Given the description of an element on the screen output the (x, y) to click on. 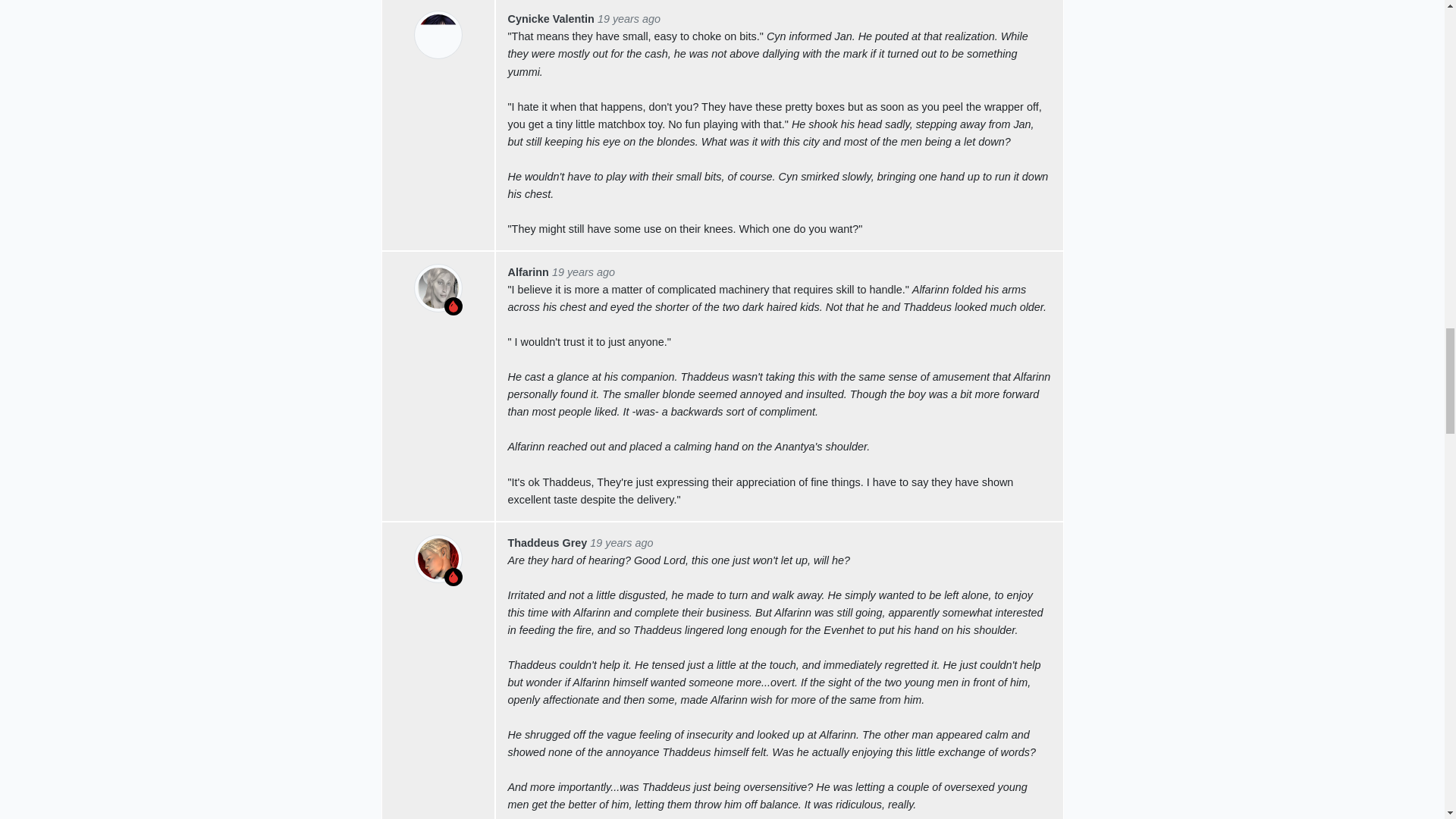
Alfarinn (528, 272)
Thaddeus Grey (548, 542)
Cynicke Valentin (551, 19)
